Given the description of an element on the screen output the (x, y) to click on. 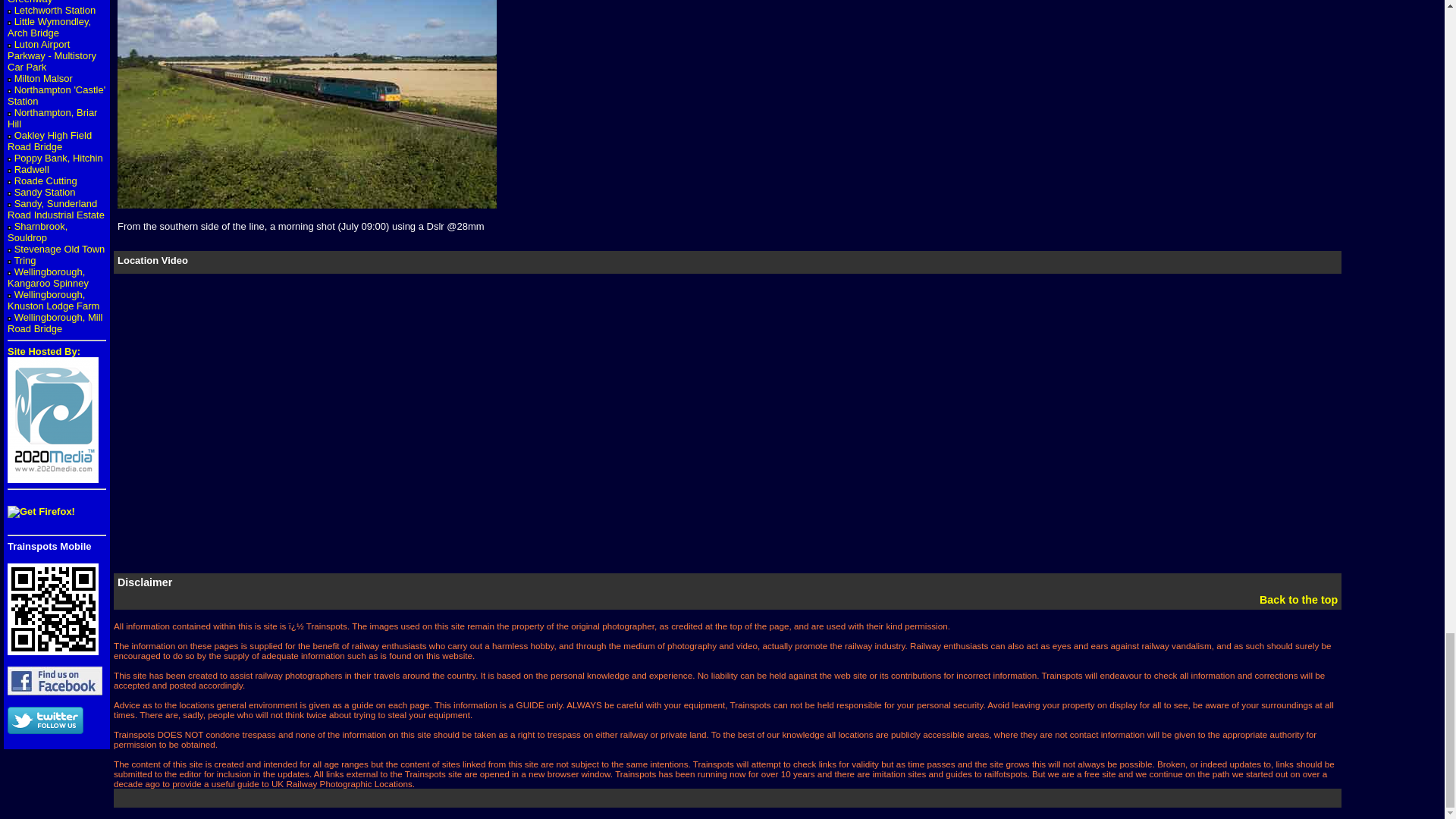
Back to the top (1298, 599)
Find us on Facebook (54, 680)
Get Firefox! (41, 511)
Follow us Twitter (44, 719)
